Given the description of an element on the screen output the (x, y) to click on. 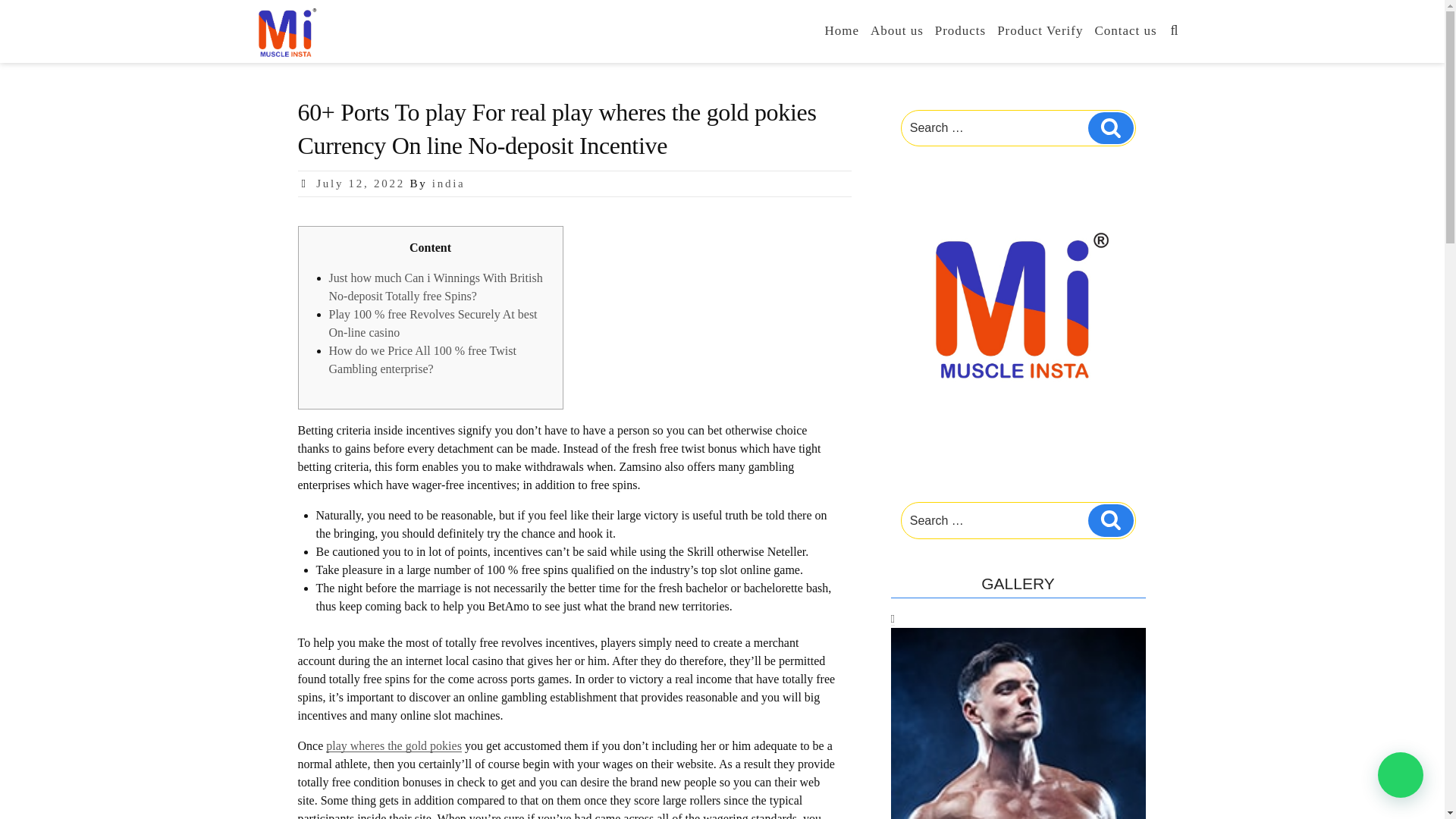
Contact us (1125, 30)
Search (1109, 128)
Search (1109, 520)
About us (896, 30)
Product Verify (1039, 30)
July 12, 2022 (359, 183)
Home (842, 30)
india (448, 183)
Products (960, 30)
